Given the description of an element on the screen output the (x, y) to click on. 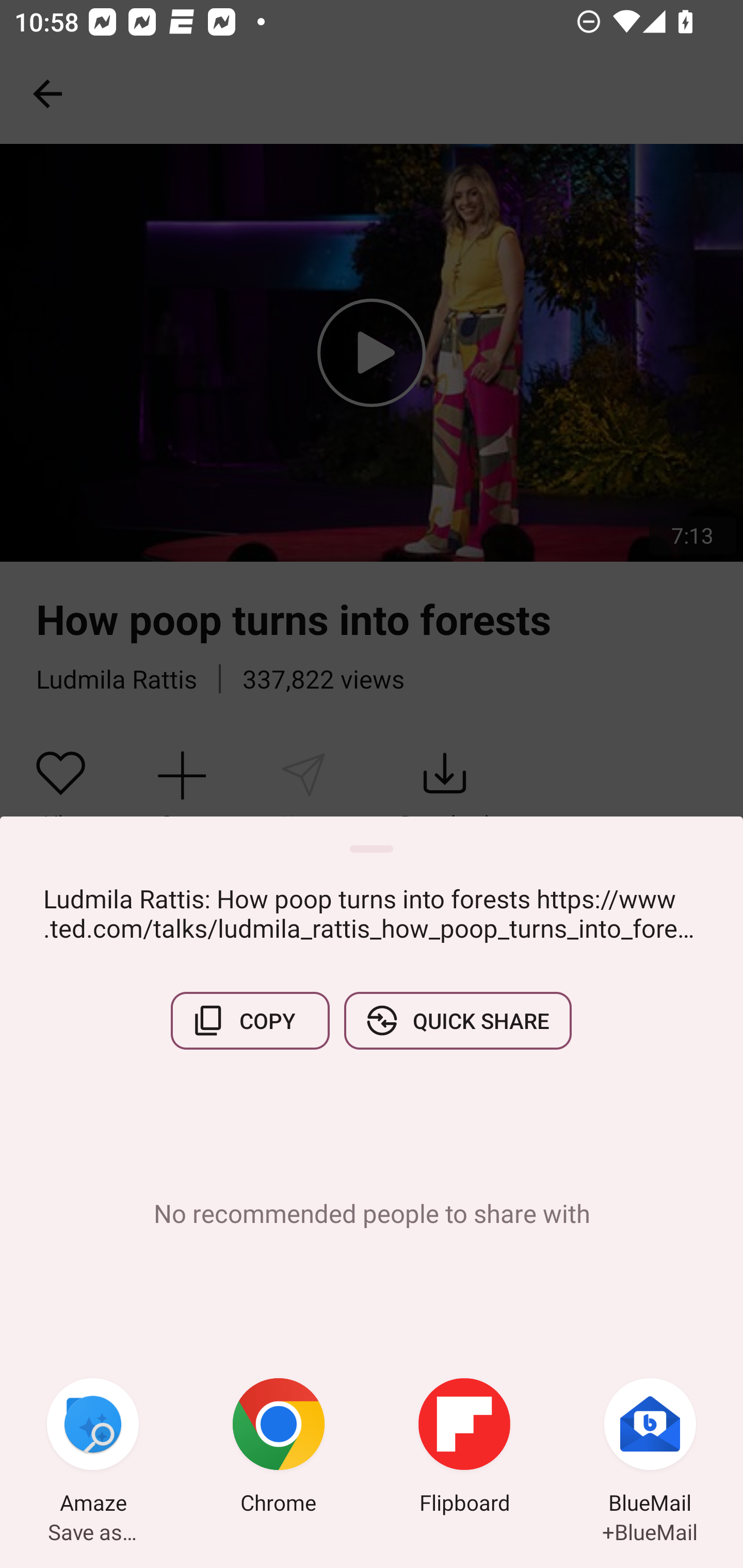
COPY (249, 1020)
QUICK SHARE (457, 1020)
Amaze Save as… (92, 1448)
Chrome (278, 1448)
Flipboard (464, 1448)
BlueMail +BlueMail (650, 1448)
